Given the description of an element on the screen output the (x, y) to click on. 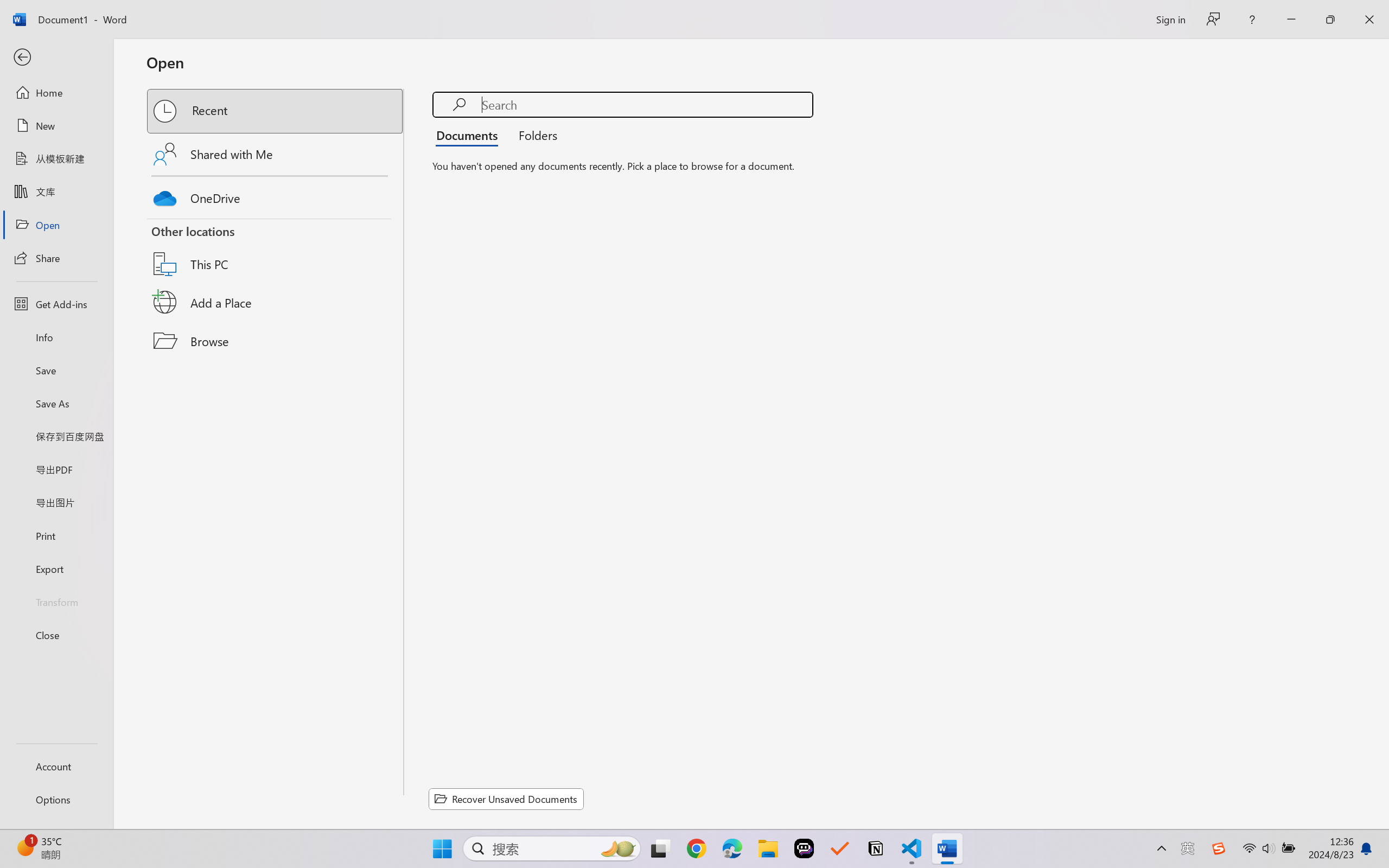
Info (56, 337)
Save As (56, 403)
Add a Place (275, 302)
Back (56, 57)
Print (56, 535)
Documents (469, 134)
OneDrive (275, 195)
